Given the description of an element on the screen output the (x, y) to click on. 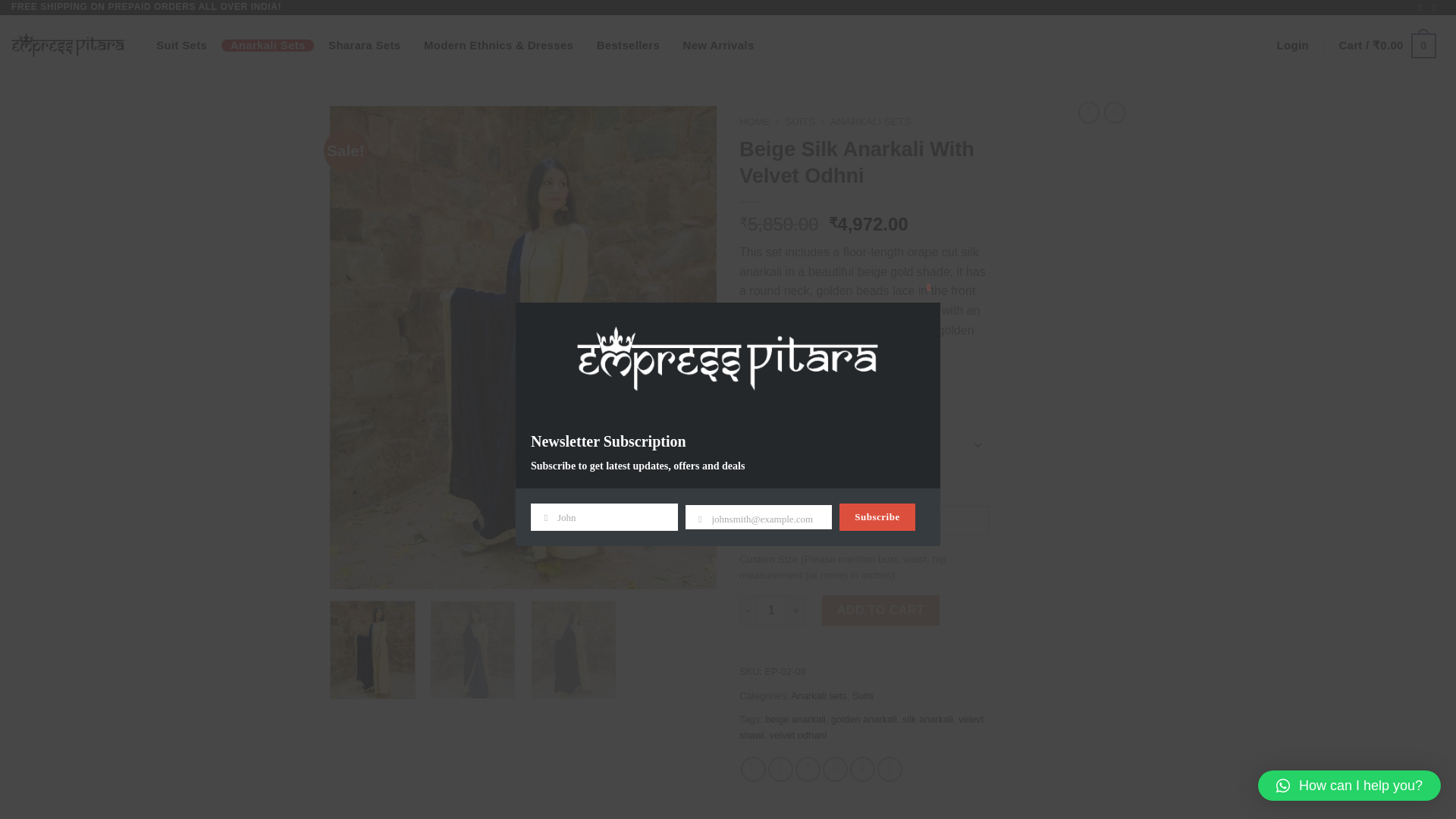
Qty (770, 610)
1 (770, 610)
Login (1292, 45)
Anarkali Sets (267, 45)
SUITS (799, 121)
Cart (1387, 45)
Bestsellers (628, 45)
velevt shawl (861, 726)
New Arrivals (717, 45)
Suit Sets (181, 45)
silk anarkali (927, 718)
- (747, 610)
Empress Pitara (68, 45)
Suits (862, 695)
